Given the description of an element on the screen output the (x, y) to click on. 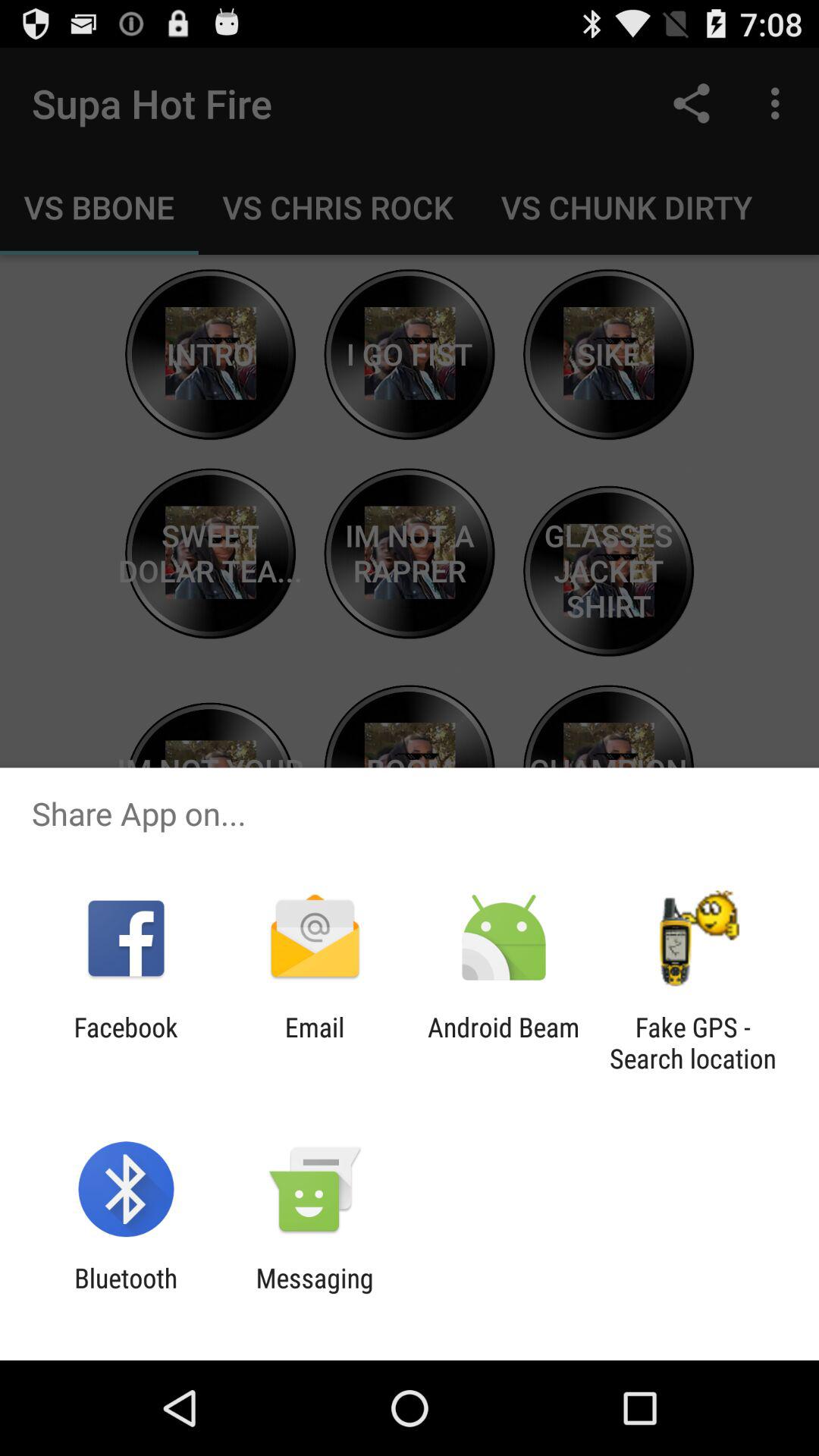
turn off app next to facebook (314, 1042)
